Given the description of an element on the screen output the (x, y) to click on. 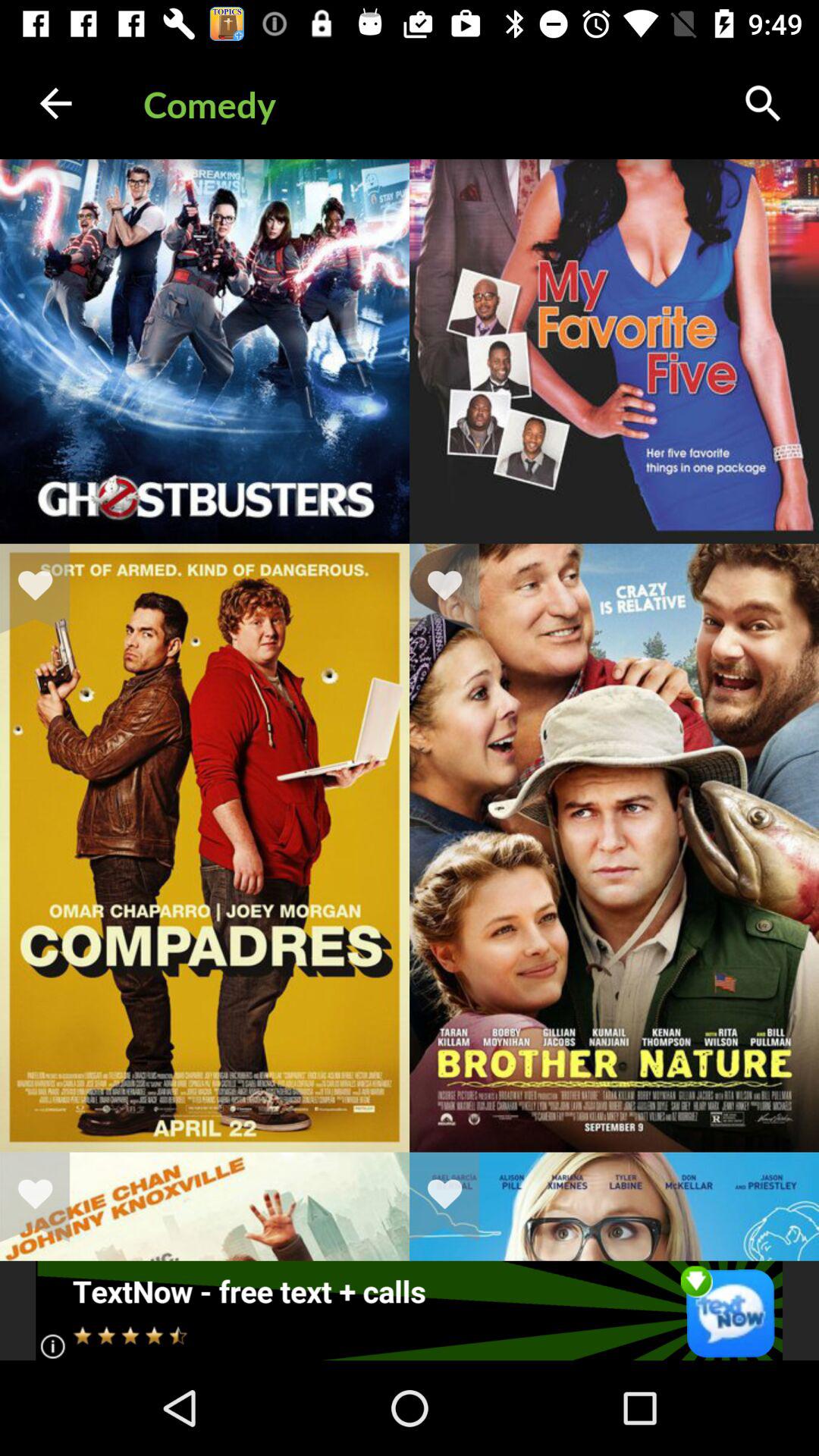
click to send a text (408, 1310)
